Given the description of an element on the screen output the (x, y) to click on. 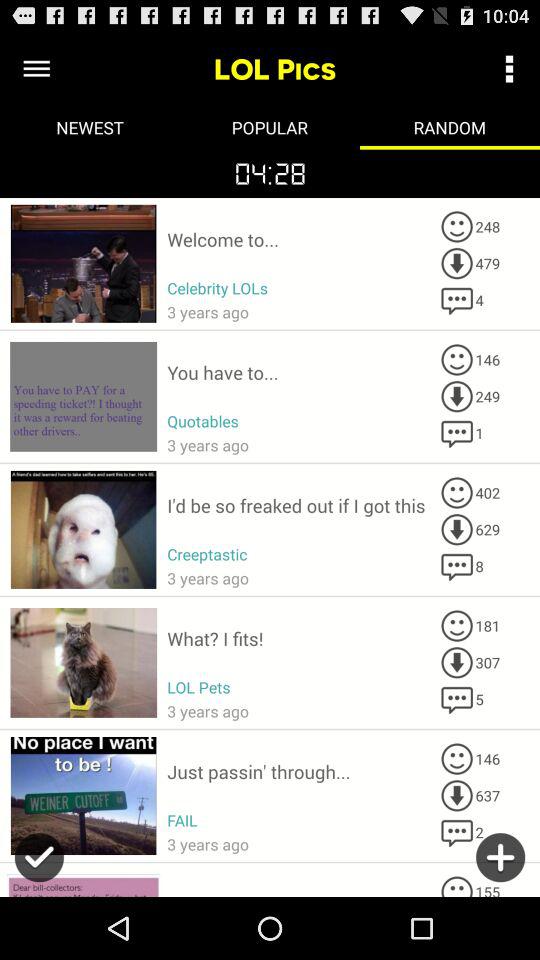
click on the  symbol in the bottom right (500, 863)
